Given the description of an element on the screen output the (x, y) to click on. 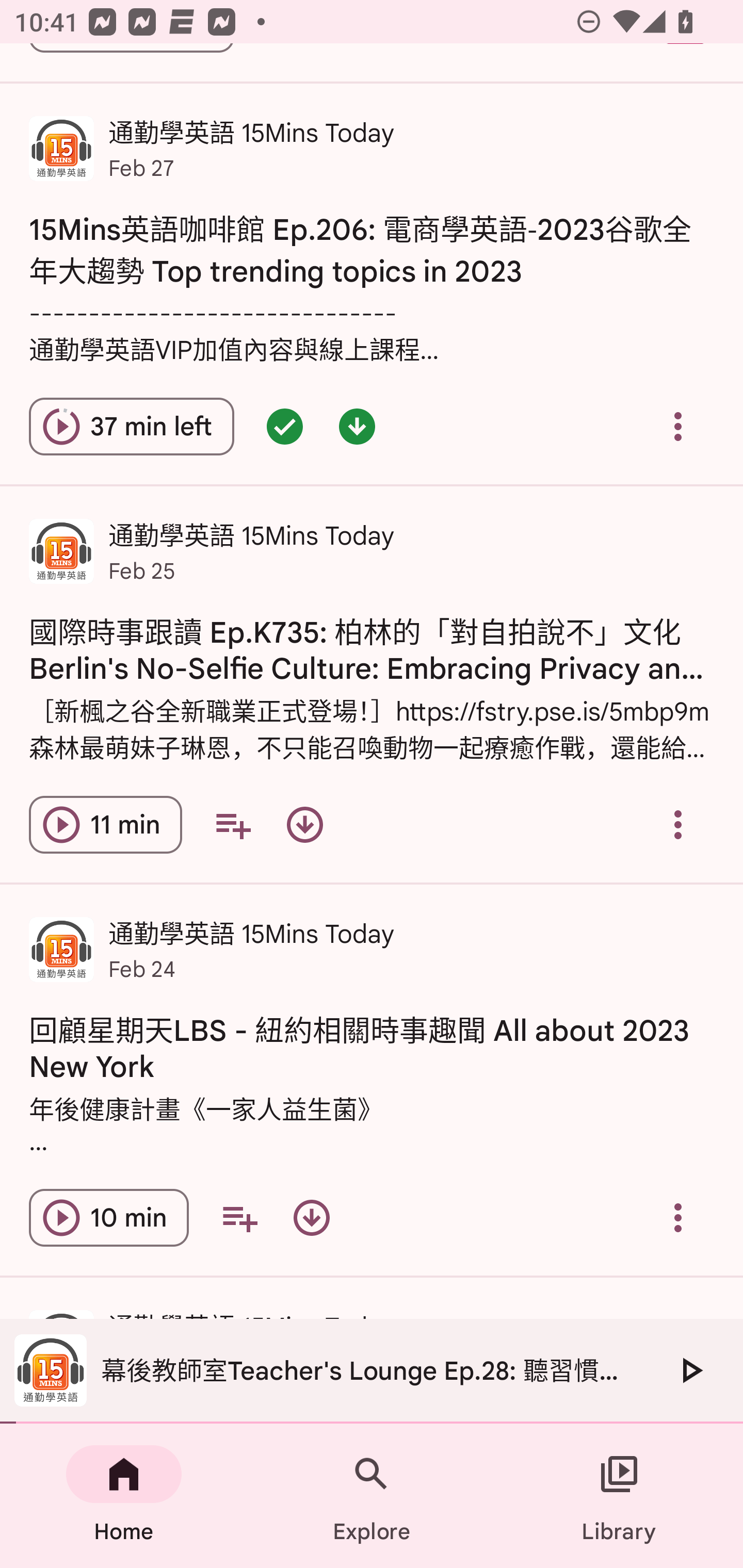
Episode queued - double tap for options (284, 426)
Episode downloaded - double tap for options (356, 426)
Overflow menu (677, 426)
Add to your queue (232, 824)
Download episode (304, 824)
Overflow menu (677, 824)
Add to your queue (239, 1217)
Download episode (311, 1217)
Overflow menu (677, 1217)
Play (690, 1370)
Explore (371, 1495)
Library (619, 1495)
